Given the description of an element on the screen output the (x, y) to click on. 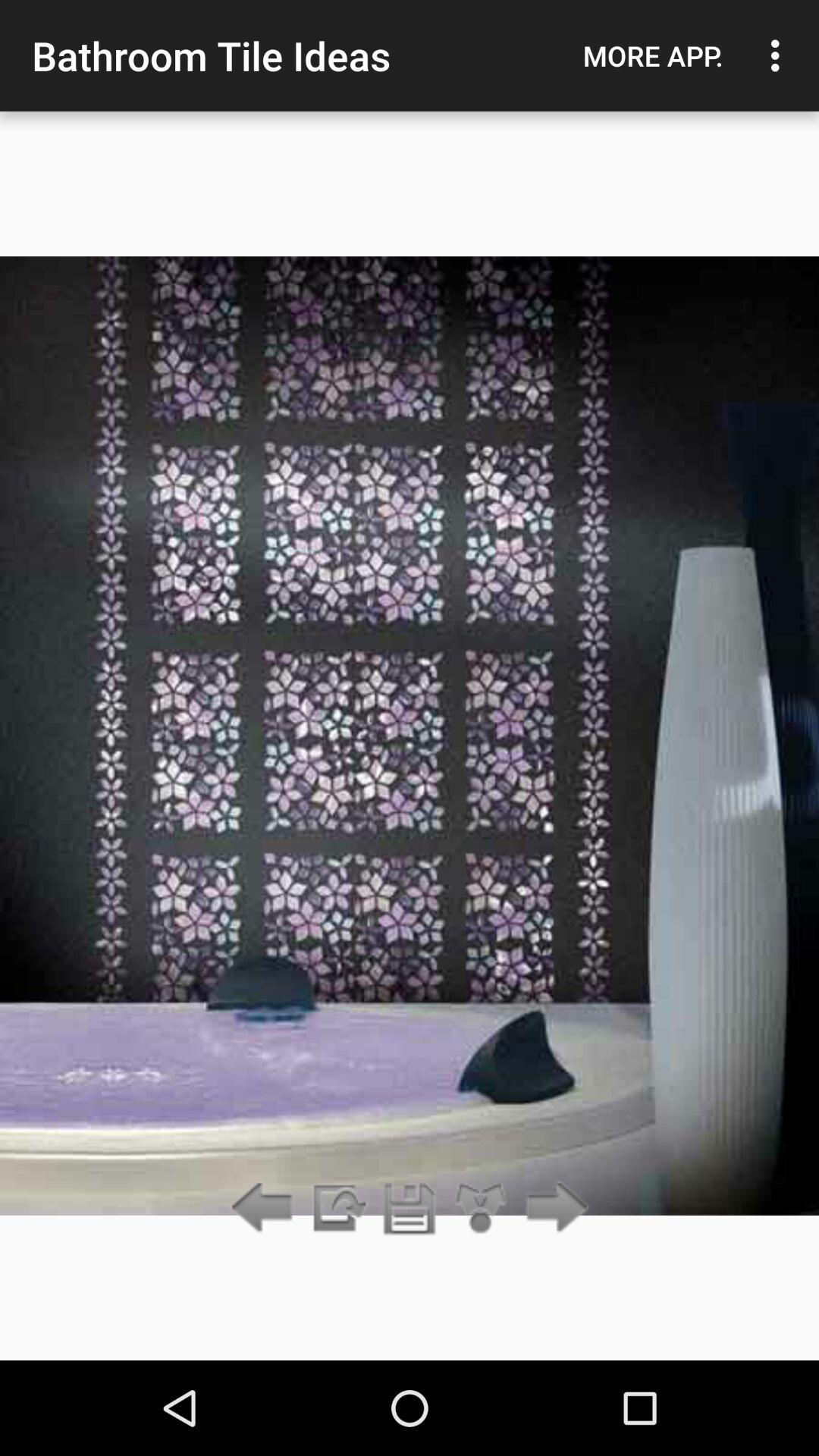
click the app next to the bathroom tile ideas app (653, 55)
